Given the description of an element on the screen output the (x, y) to click on. 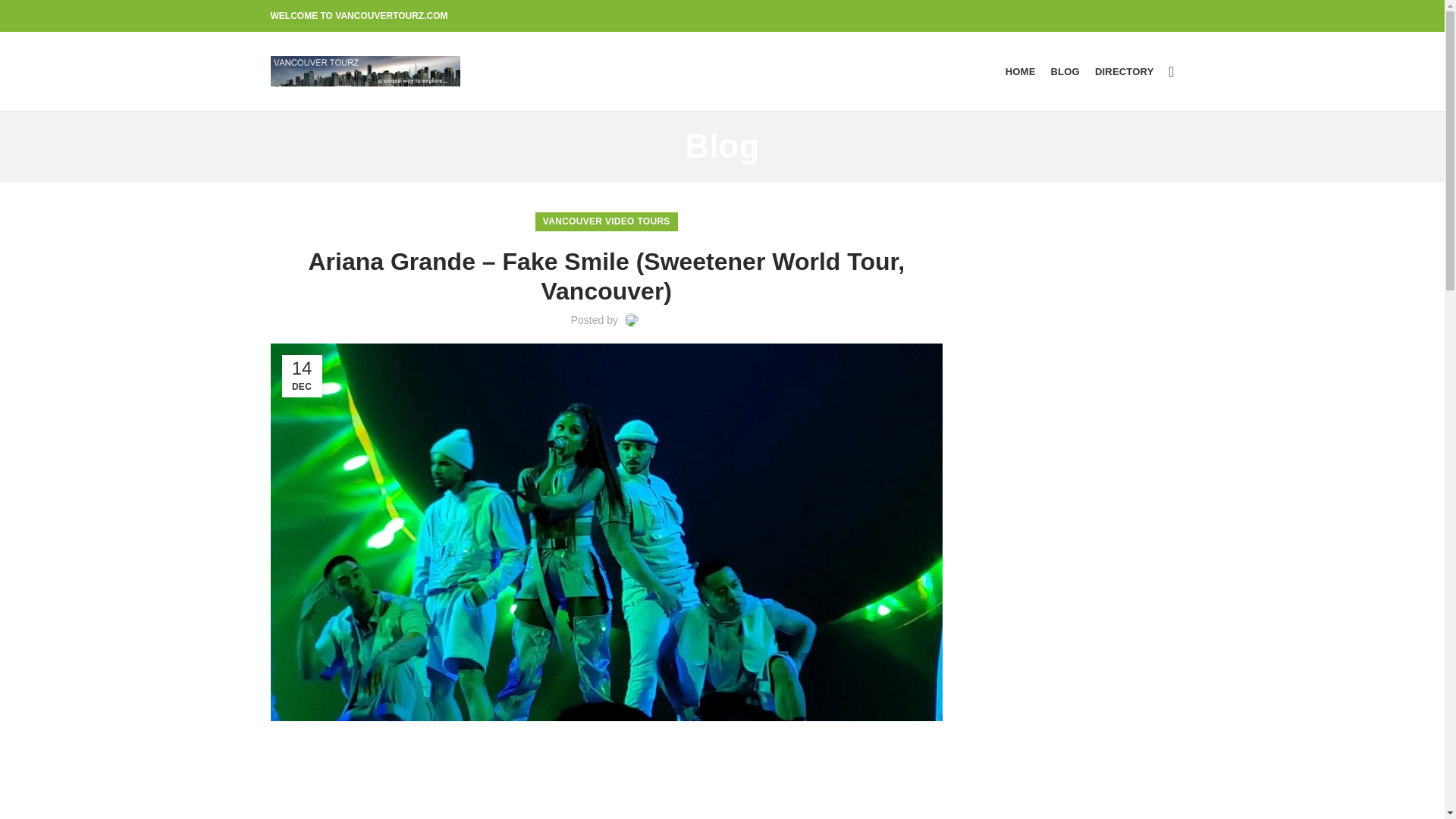
VANCOUVER VIDEO TOURS (606, 221)
BLOG (1065, 71)
HOME (1020, 71)
DIRECTORY (1124, 71)
